Given the description of an element on the screen output the (x, y) to click on. 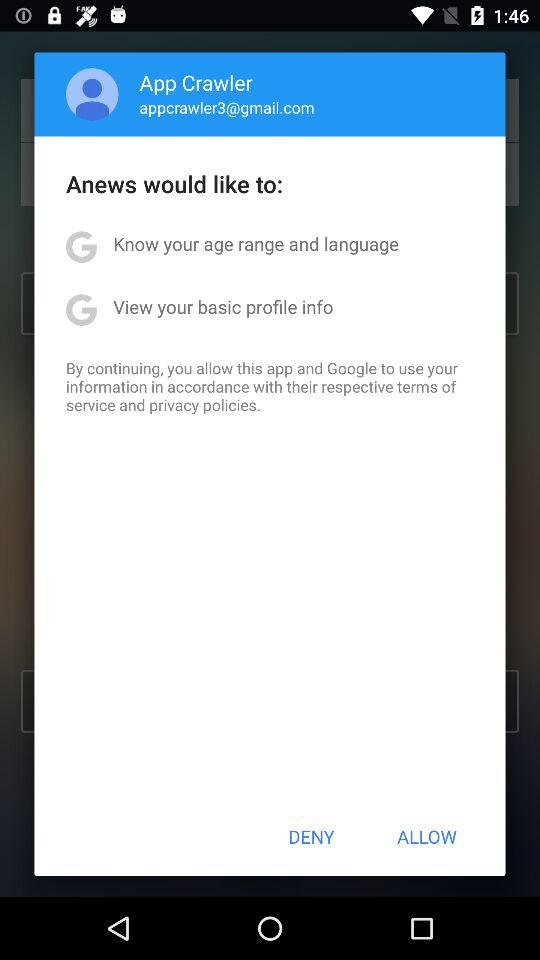
select the app crawler icon (195, 82)
